Given the description of an element on the screen output the (x, y) to click on. 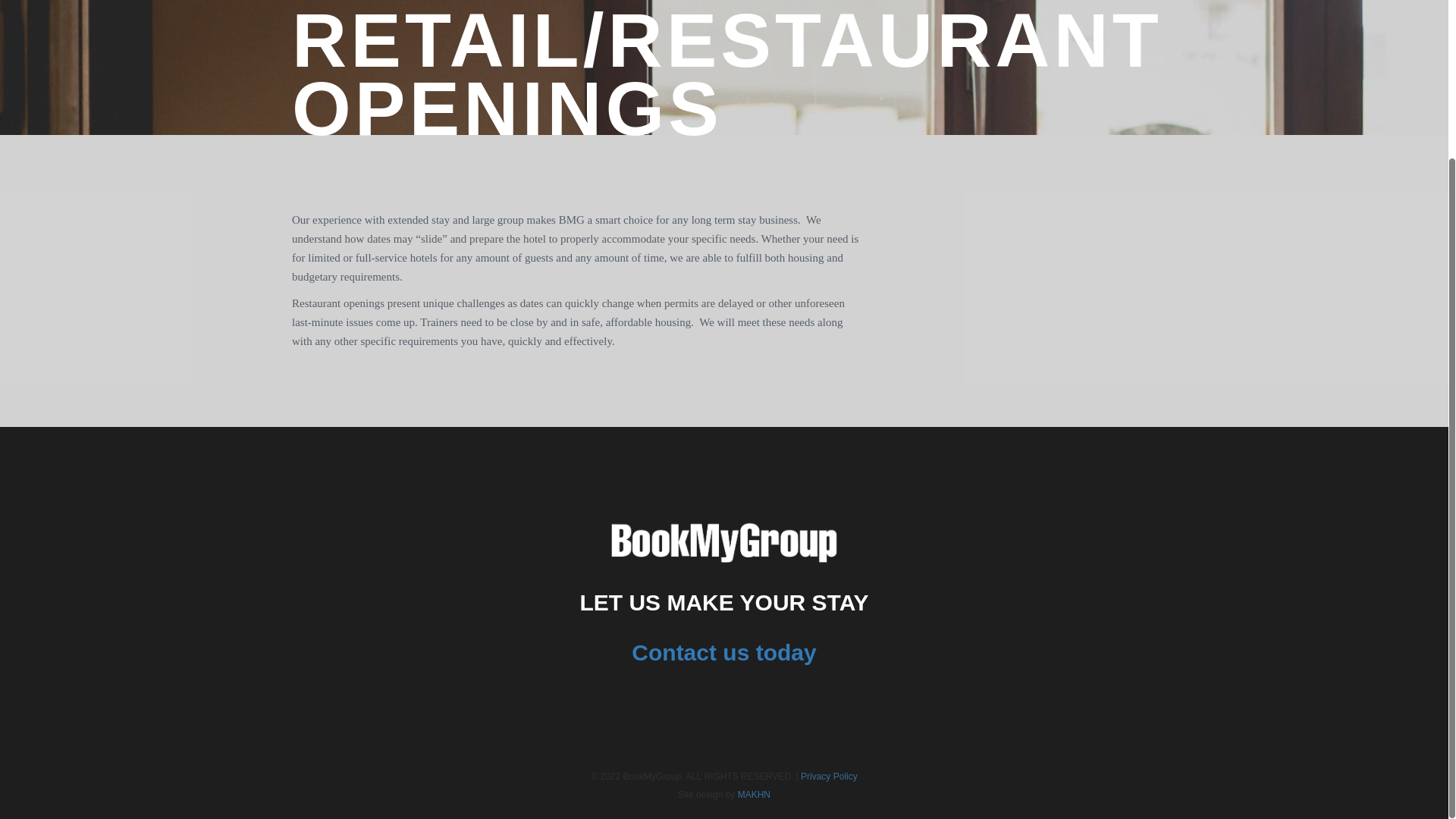
MAKHN (754, 794)
Contact us today (723, 664)
Privacy Policy (828, 776)
